Given the description of an element on the screen output the (x, y) to click on. 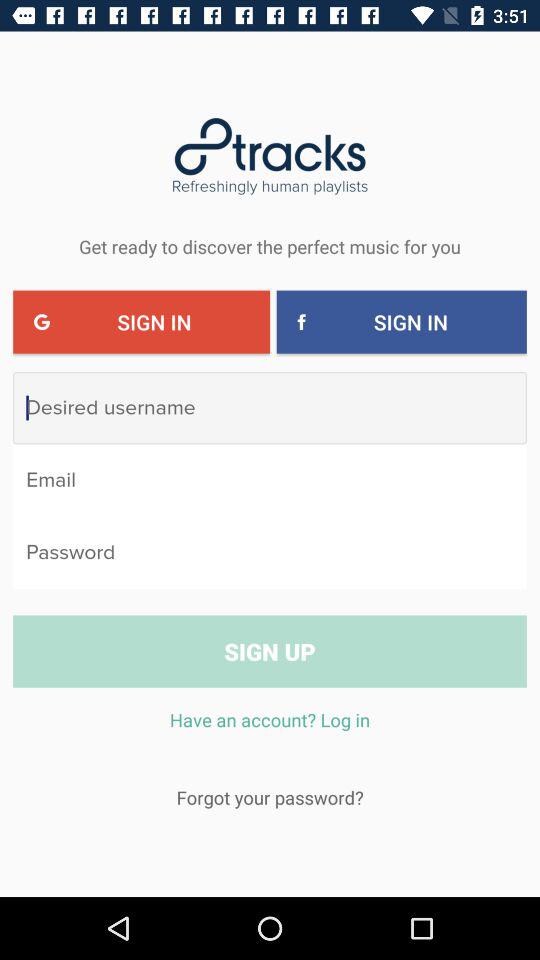
select the sign up (269, 651)
